Given the description of an element on the screen output the (x, y) to click on. 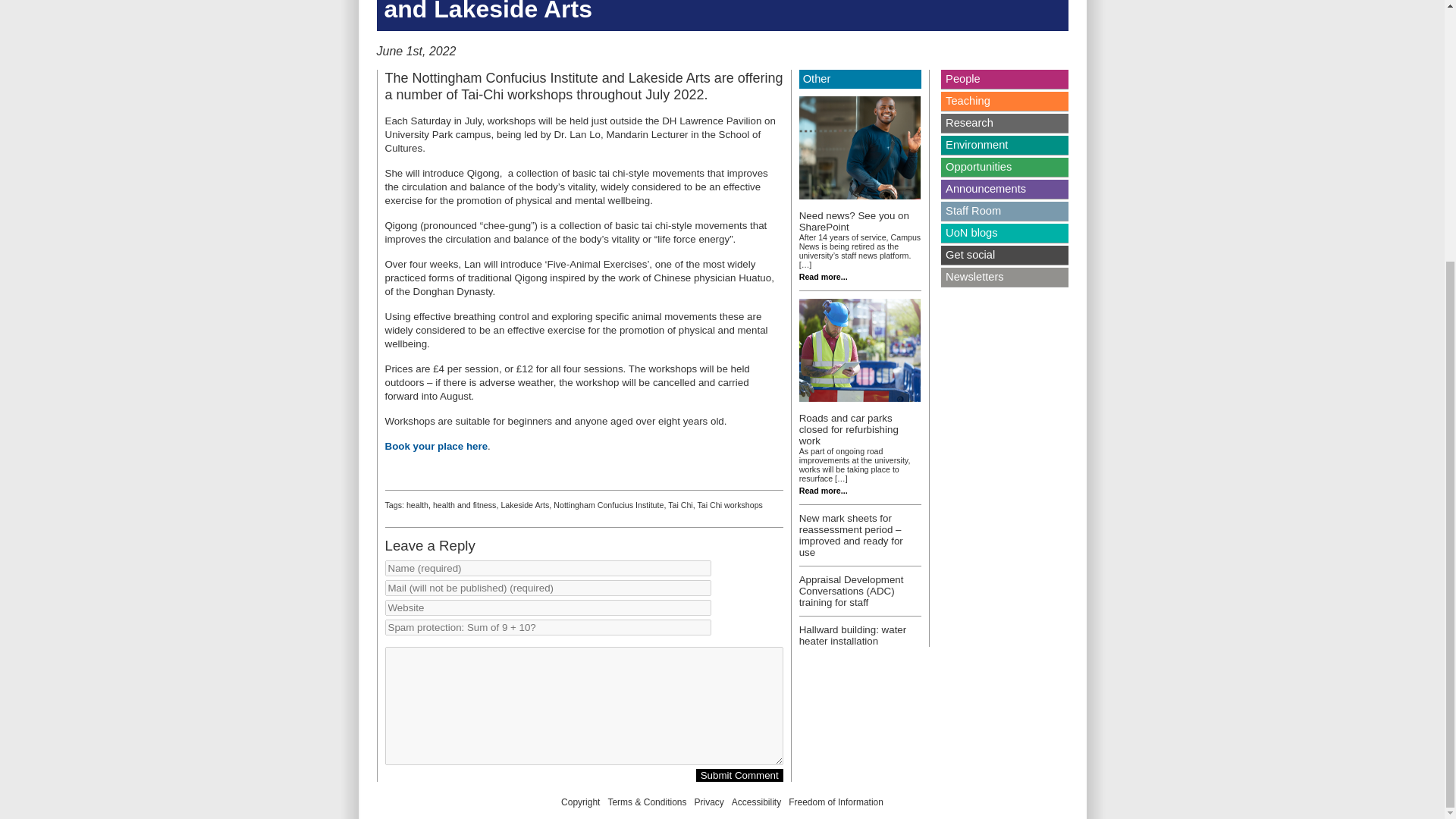
Submit Comment (739, 775)
Privacy Policy (708, 801)
Get social (1003, 254)
Copyright (579, 801)
Accessibility (756, 801)
Tai Chi (680, 504)
Read more... (823, 490)
Submit Comment (739, 775)
Lakeside Arts (524, 504)
Opportunities (1003, 167)
